Given the description of an element on the screen output the (x, y) to click on. 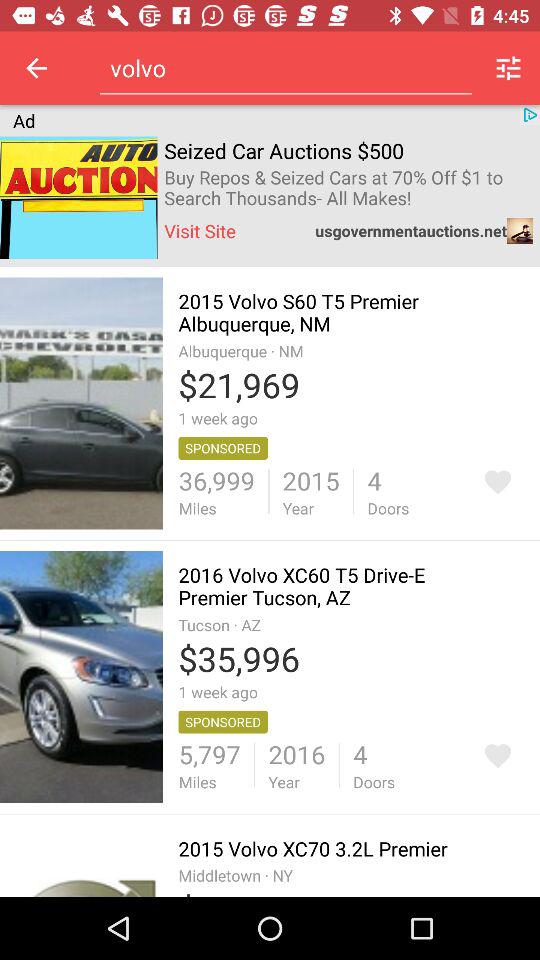
press visit site item (199, 230)
